Given the description of an element on the screen output the (x, y) to click on. 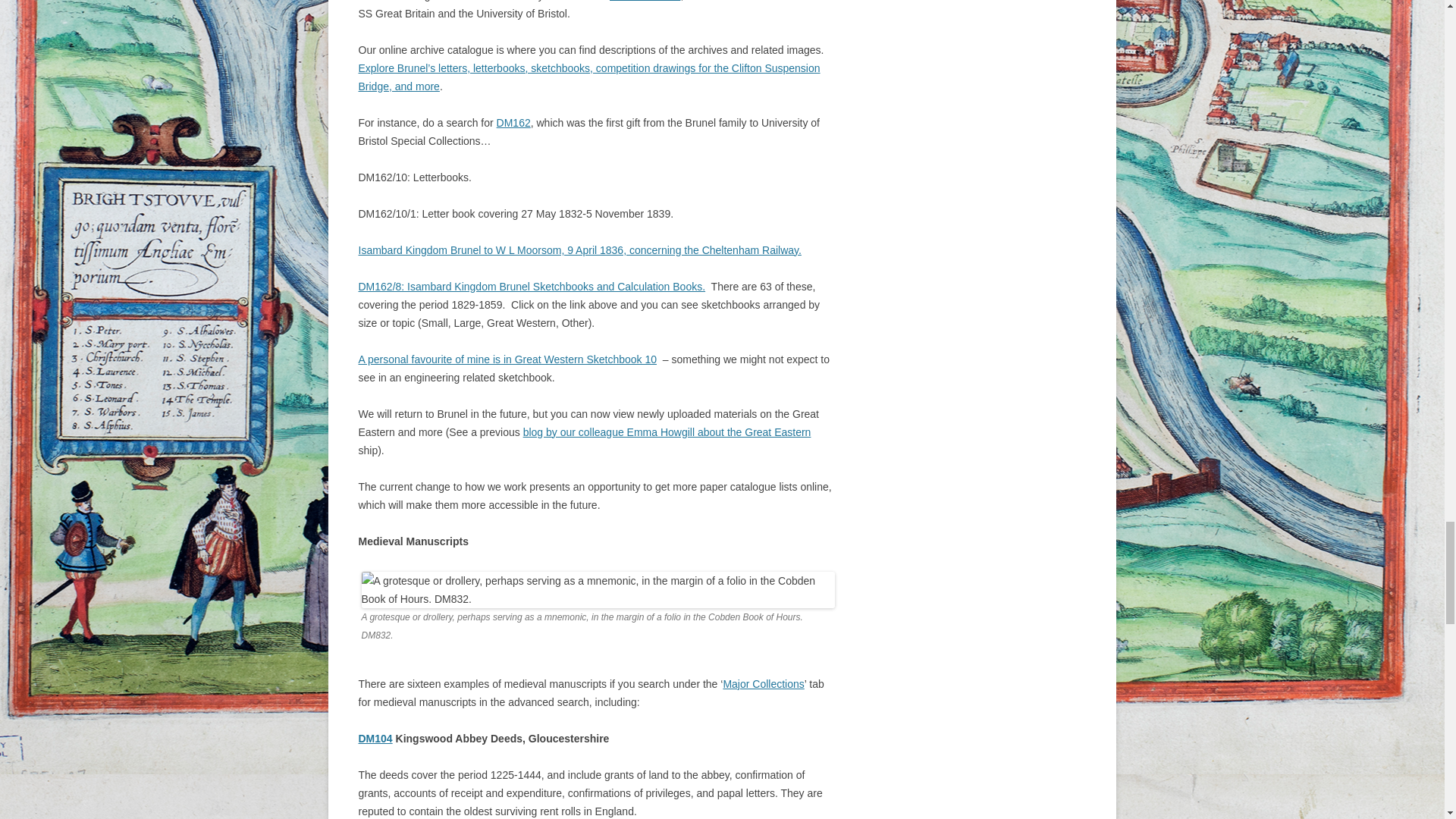
Brunel Institute (644, 0)
